Given the description of an element on the screen output the (x, y) to click on. 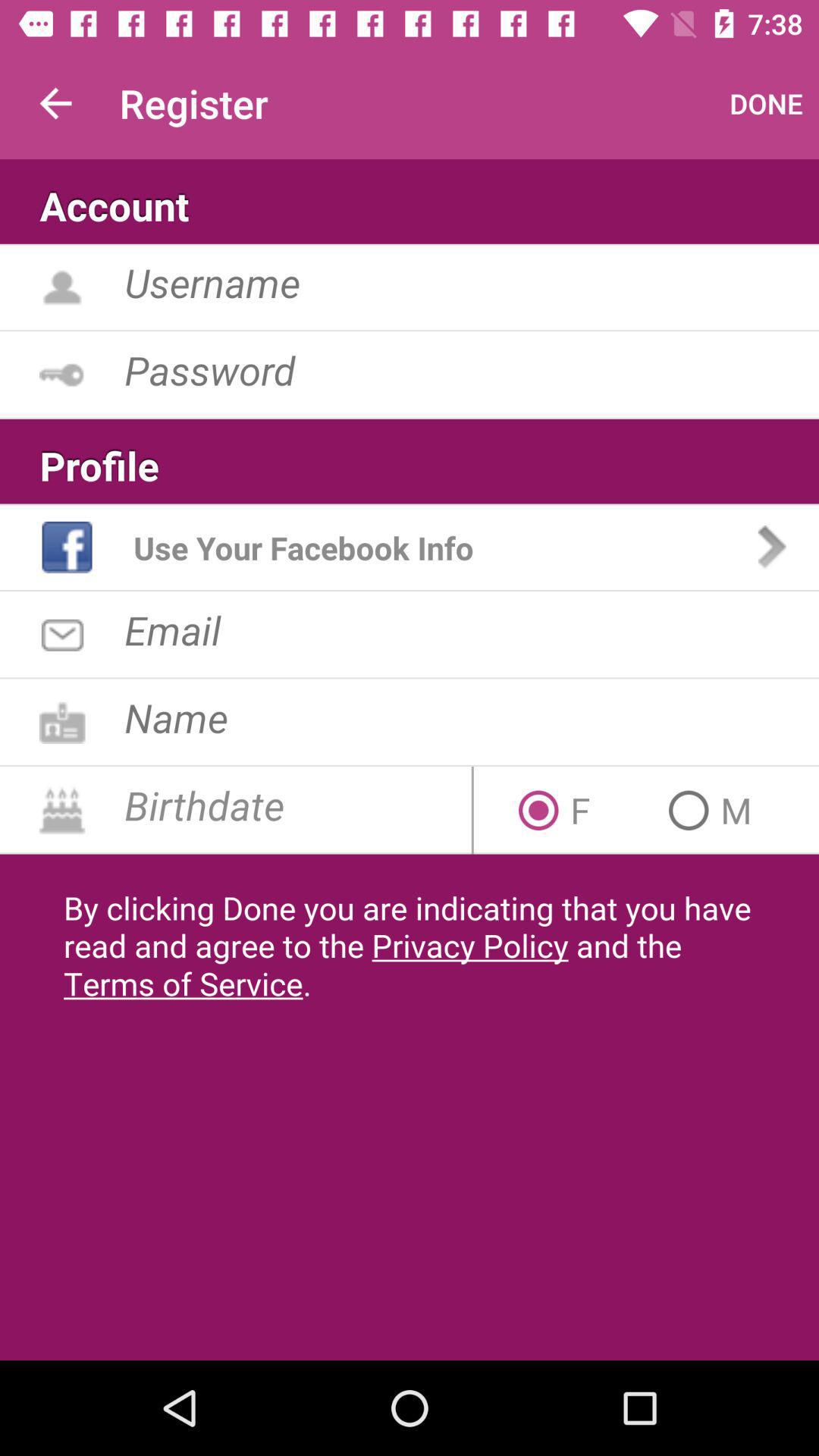
enter text (471, 629)
